Given the description of an element on the screen output the (x, y) to click on. 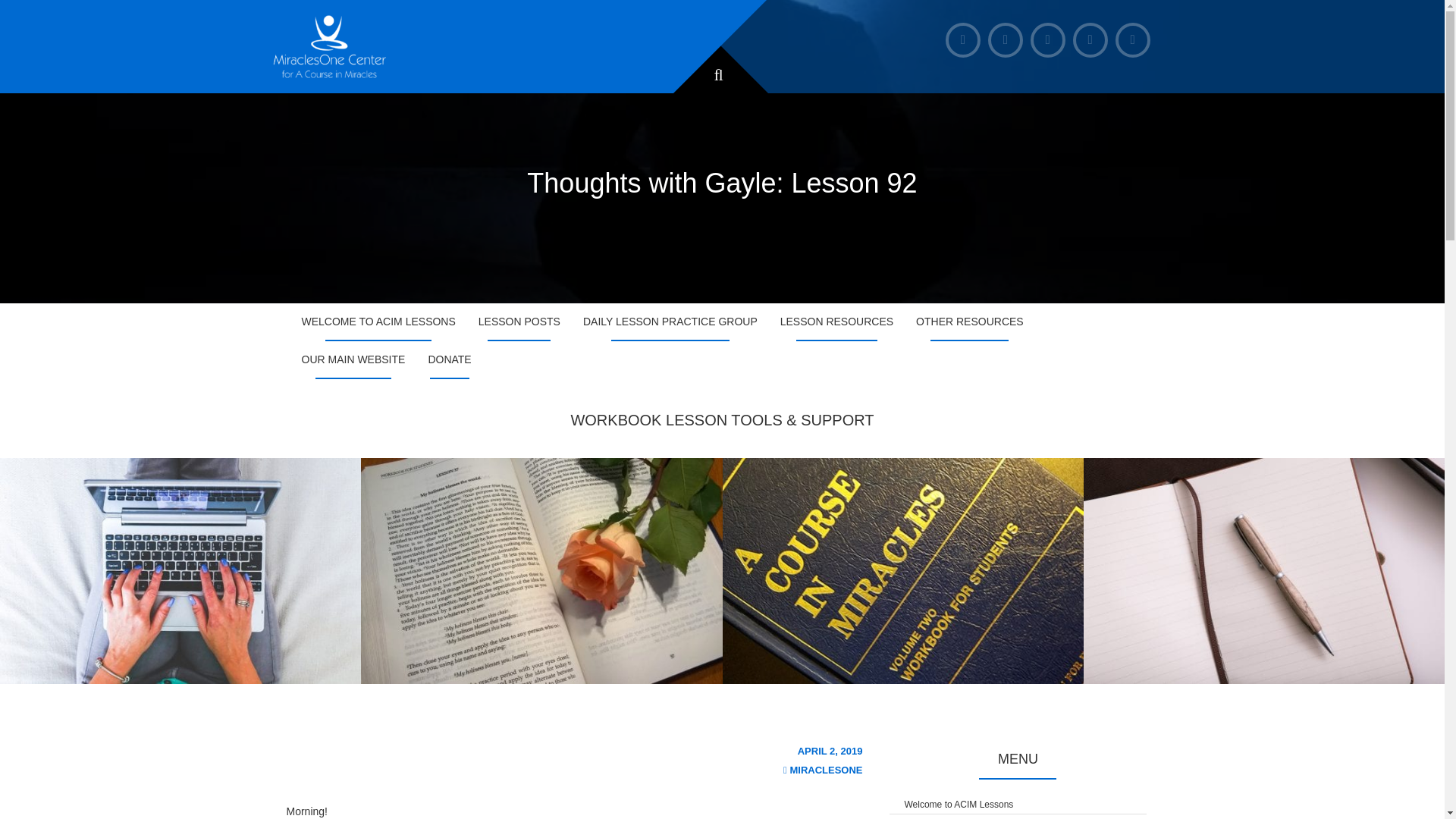
Online ACIM Self-Study Courses (541, 570)
Click to open! (1017, 816)
Resource: Accessing Resources for Daily Lessons (180, 570)
Resource: What Workbook Support Do You Need? (902, 570)
